Given the description of an element on the screen output the (x, y) to click on. 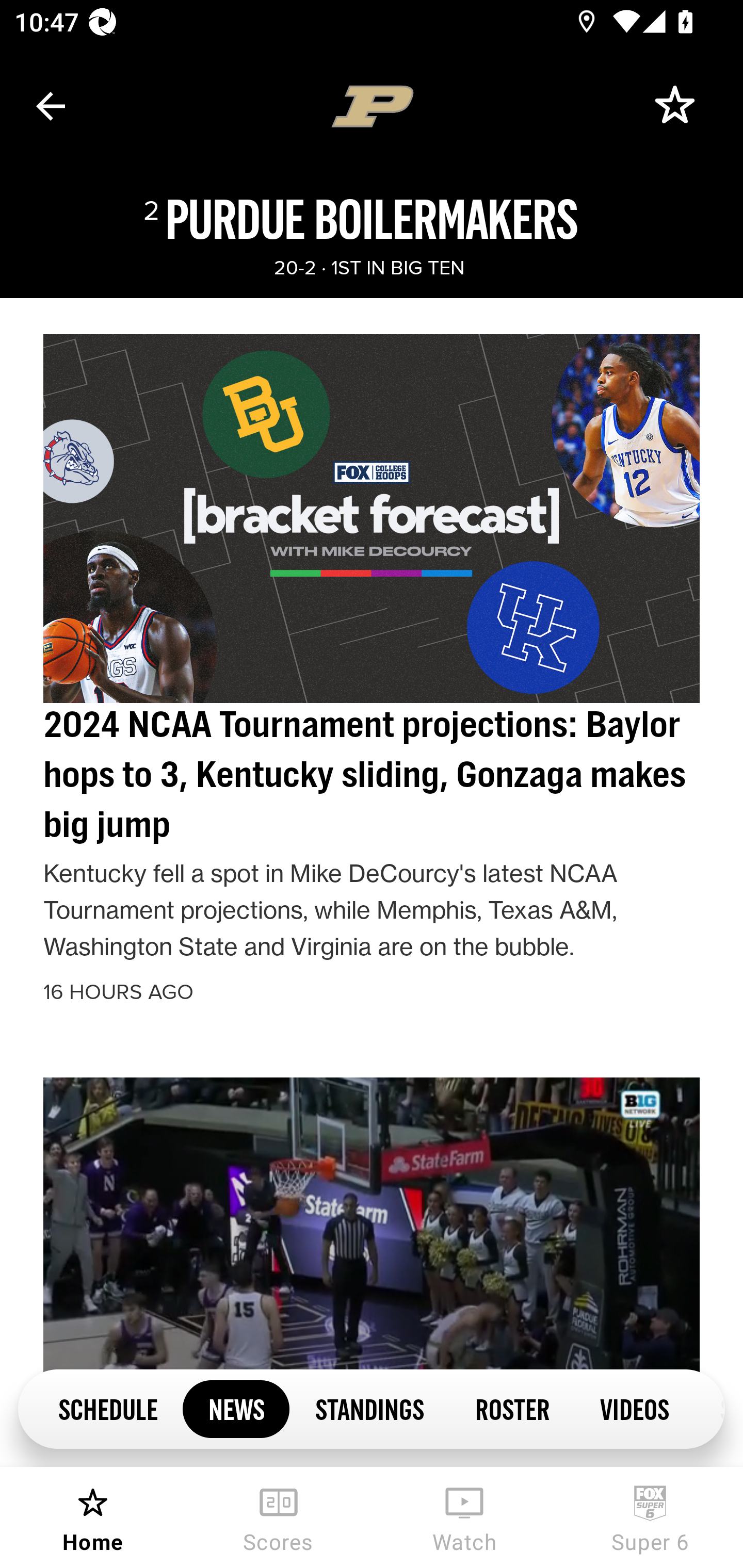
Navigate up (50, 106)
20-2 · 1ST IN BIG TEN (368, 267)
SCHEDULE (107, 1408)
STANDINGS (369, 1408)
ROSTER (512, 1408)
VIDEOS (634, 1408)
Scores (278, 1517)
Watch (464, 1517)
Super 6 (650, 1517)
